Given the description of an element on the screen output the (x, y) to click on. 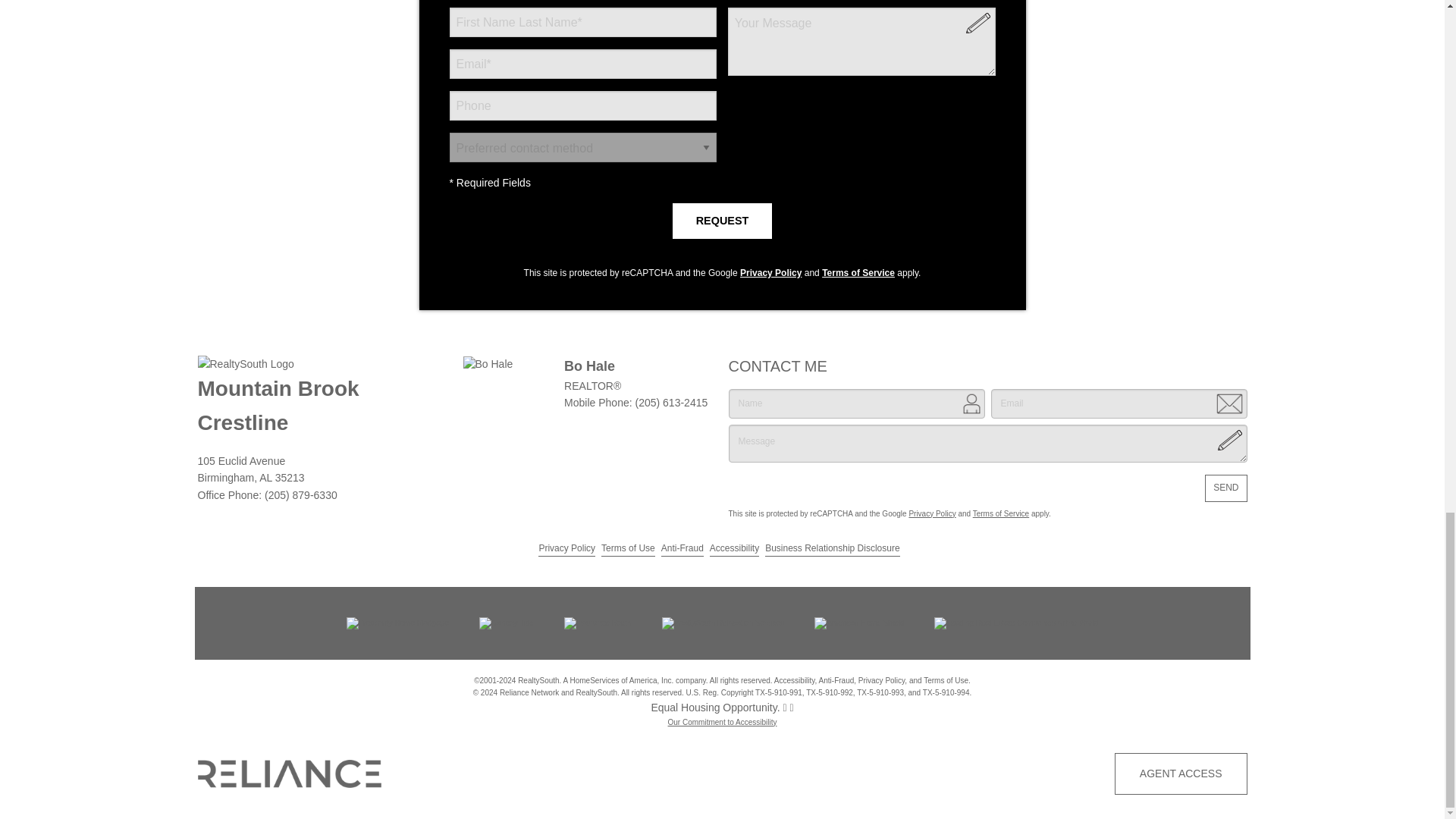
Terms of Service (858, 272)
RealtySouth Relocation Services (723, 623)
Canopy Title (506, 623)
Prosperity Home Mortgage (397, 623)
Privacy Policy (770, 272)
REQUEST (722, 220)
Send (1225, 488)
Reliance Network Logo (288, 773)
Leading Real Estate Companies of the World (1015, 623)
American Home Shield (858, 623)
